Given the description of an element on the screen output the (x, y) to click on. 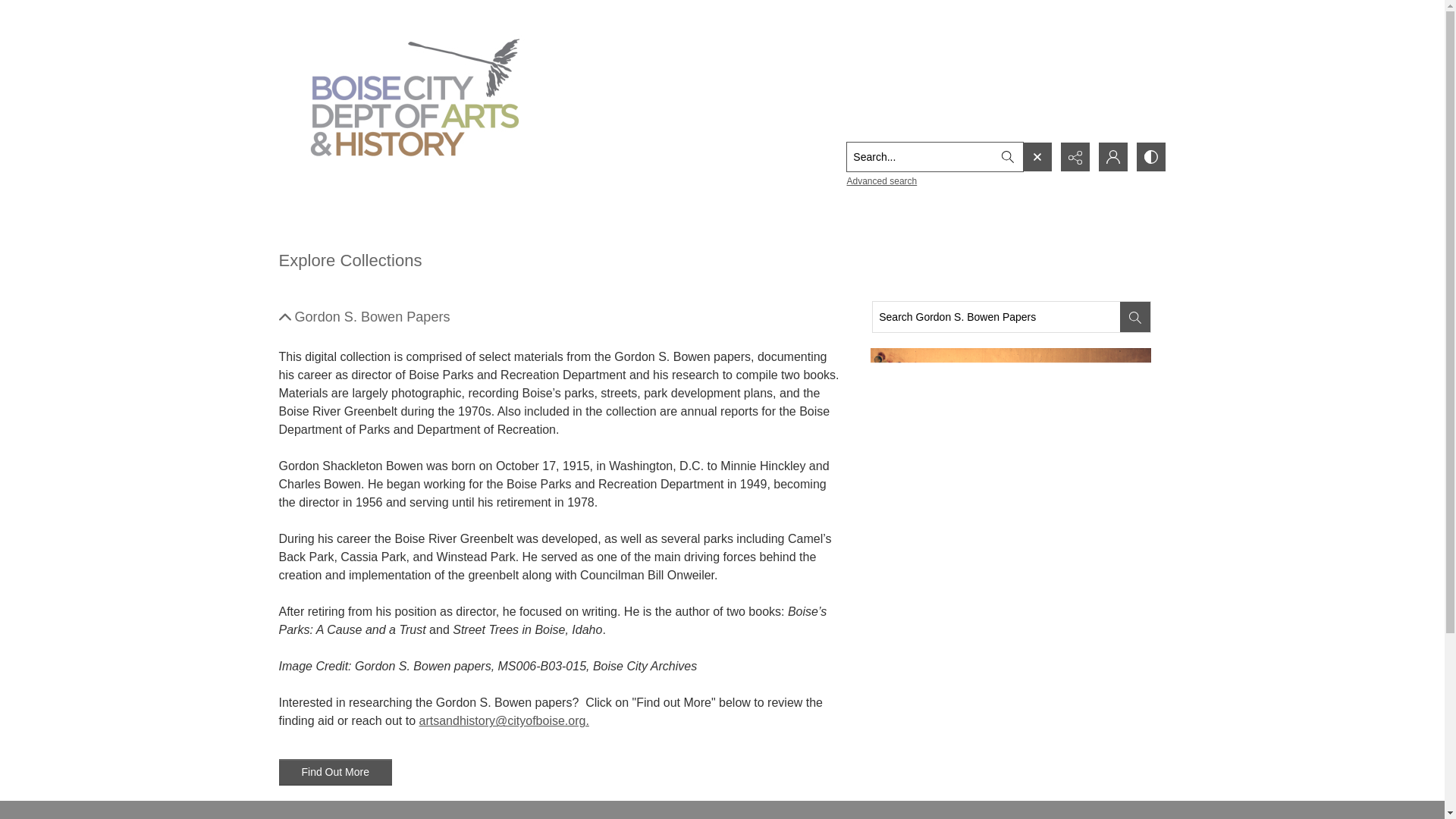
Apply Search (1006, 156)
Reveal share options (1074, 156)
Advanced search (881, 181)
My Account (1111, 156)
Switch between contrast modes (1149, 156)
Close search input (1036, 156)
